Given the description of an element on the screen output the (x, y) to click on. 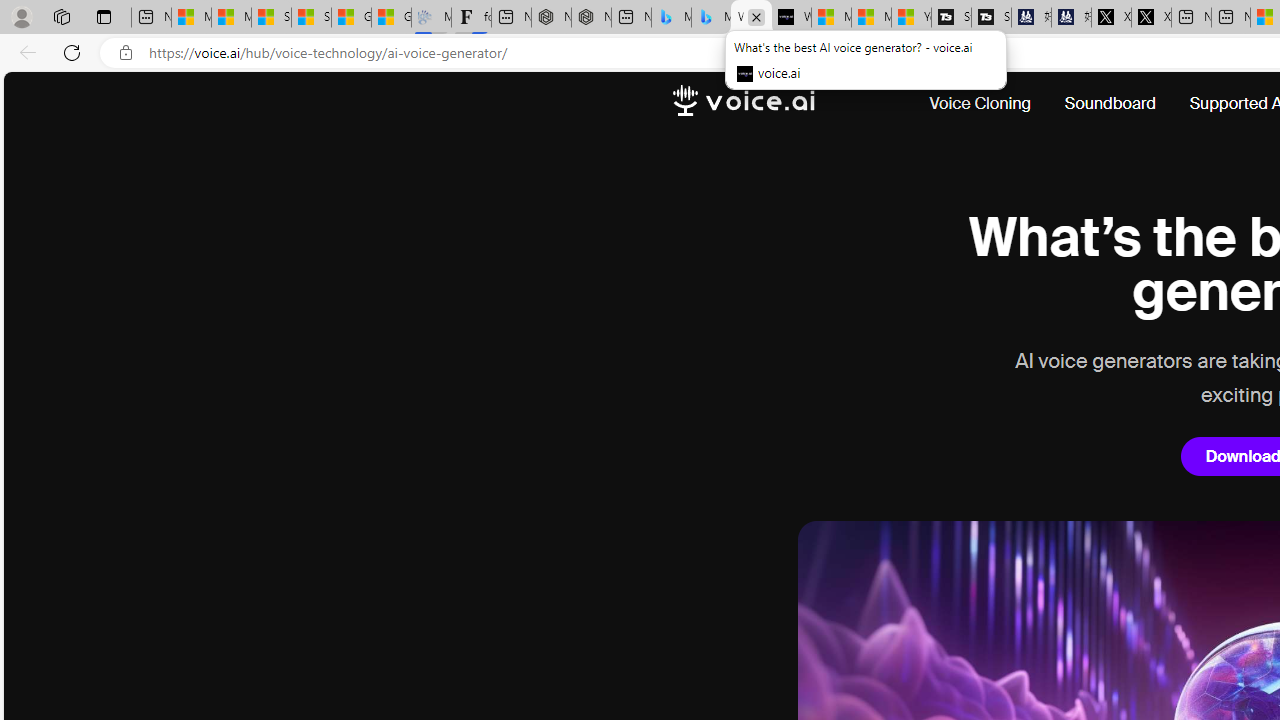
Soundboard (1109, 103)
Microsoft Bing Travel - Stays in Bangkok, Bangkok, Thailand (671, 17)
Nordace - #1 Japanese Best-Seller - Siena Smart Backpack (591, 17)
Streaming Coverage | T3 (951, 17)
Soundboard (1110, 103)
Voice Cloning (980, 103)
